Given the description of an element on the screen output the (x, y) to click on. 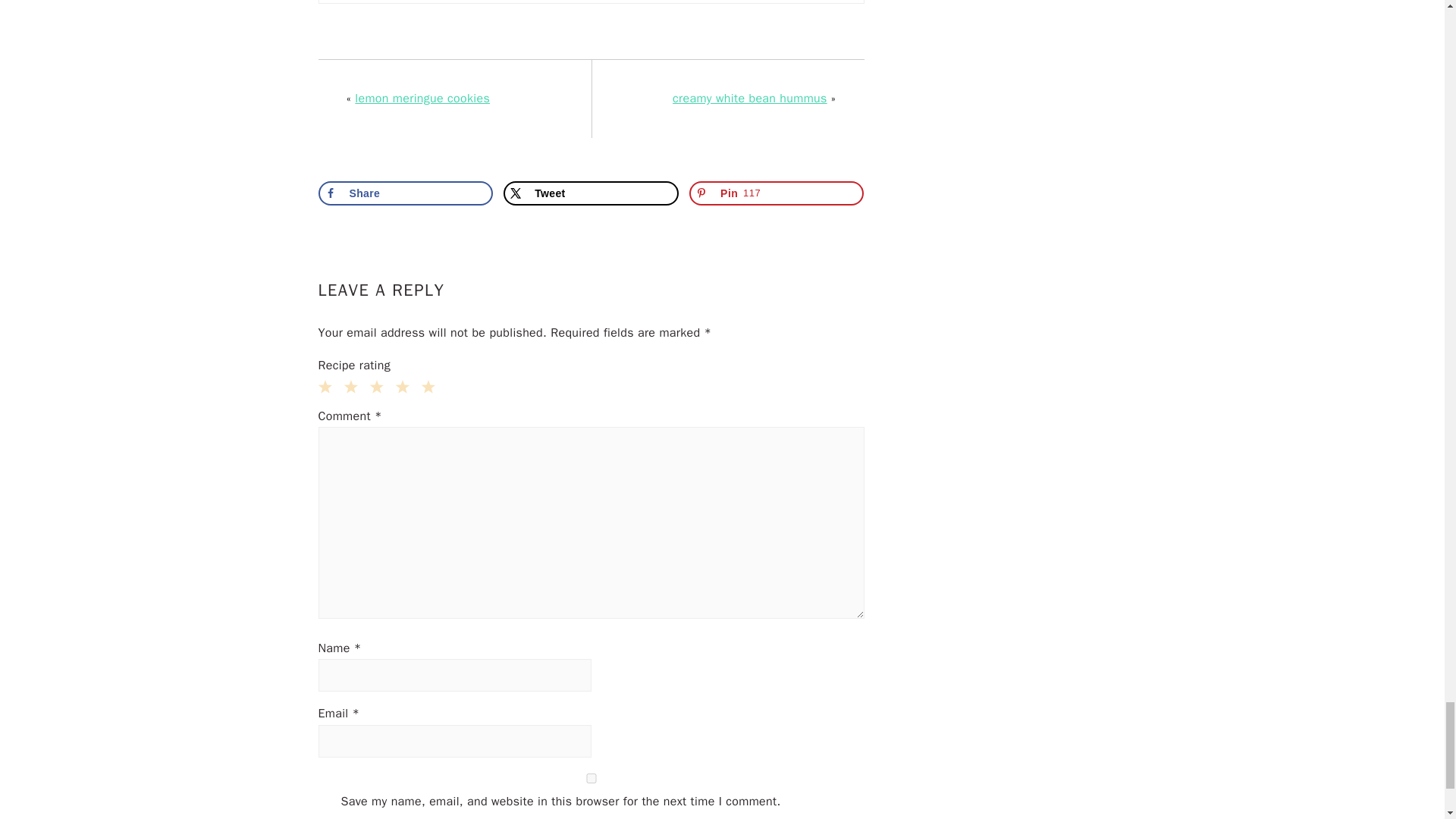
Share on Facebook (405, 192)
Save to Pinterest (775, 192)
yes (591, 777)
Share on X (590, 192)
